Given the description of an element on the screen output the (x, y) to click on. 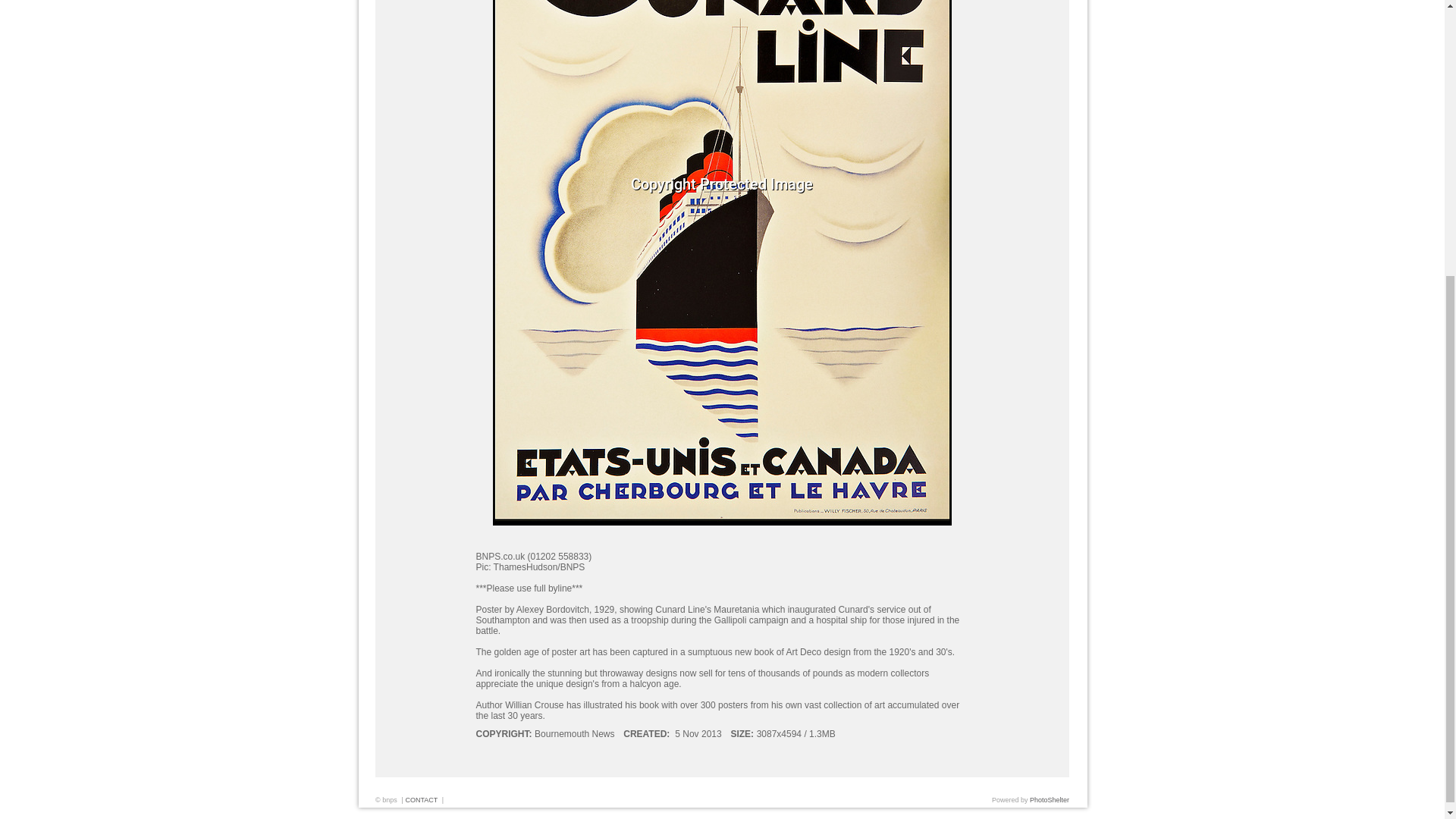
CONTACT (421, 799)
PhotoShelter (1048, 799)
